Given the description of an element on the screen output the (x, y) to click on. 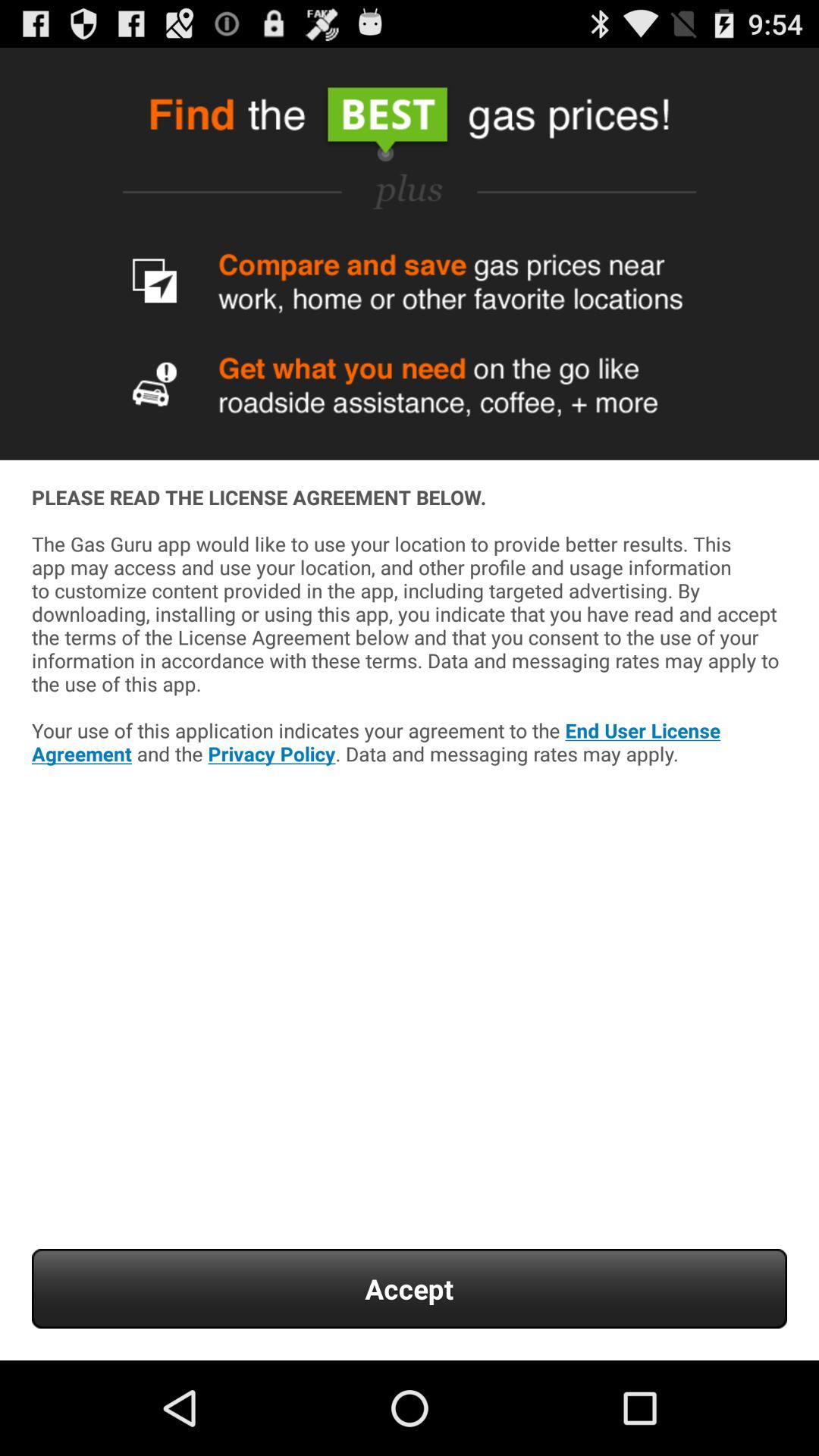
swipe to the accept icon (409, 1288)
